Given the description of an element on the screen output the (x, y) to click on. 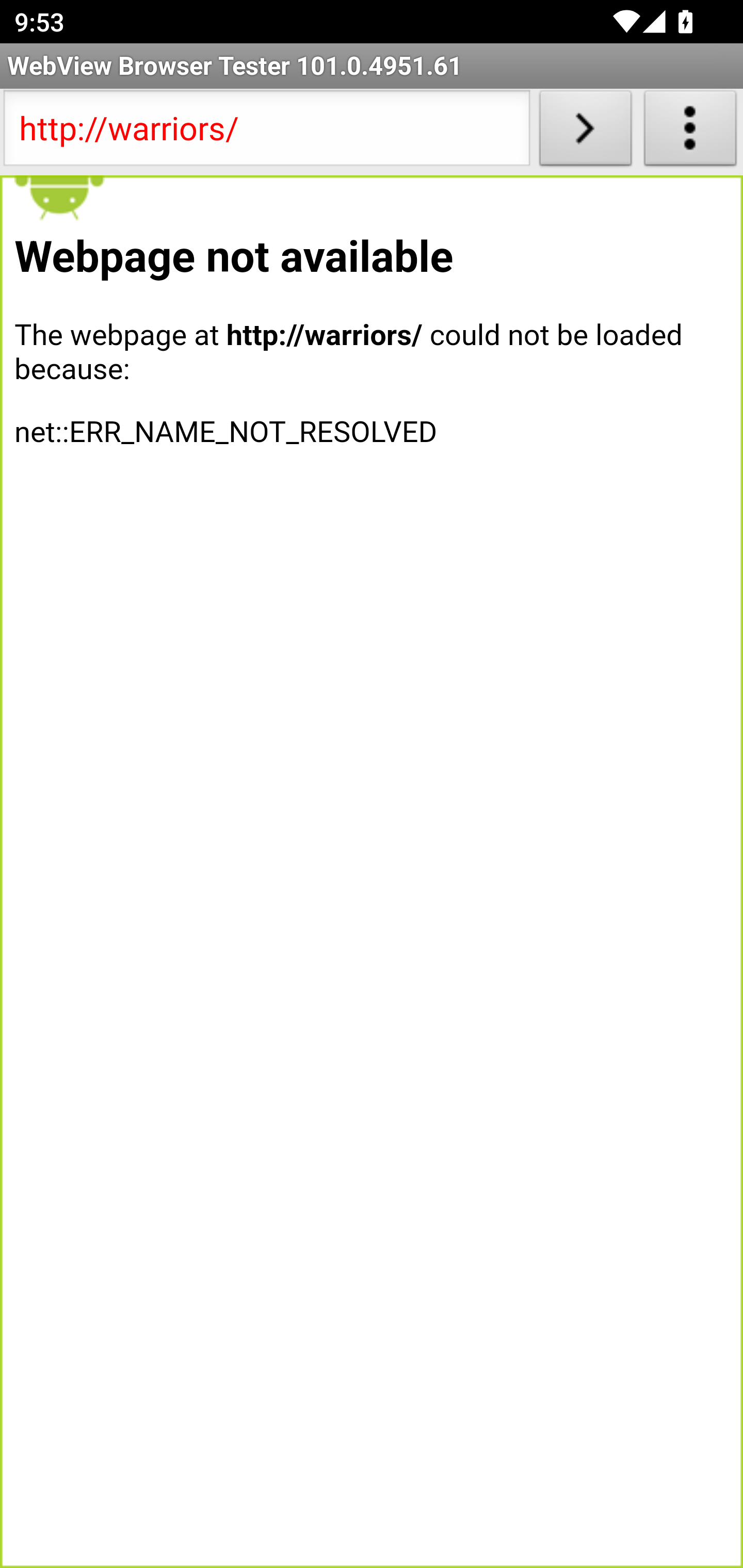
http://warriors/ (266, 132)
Load URL (585, 132)
About WebView (690, 132)
